Given the description of an element on the screen output the (x, y) to click on. 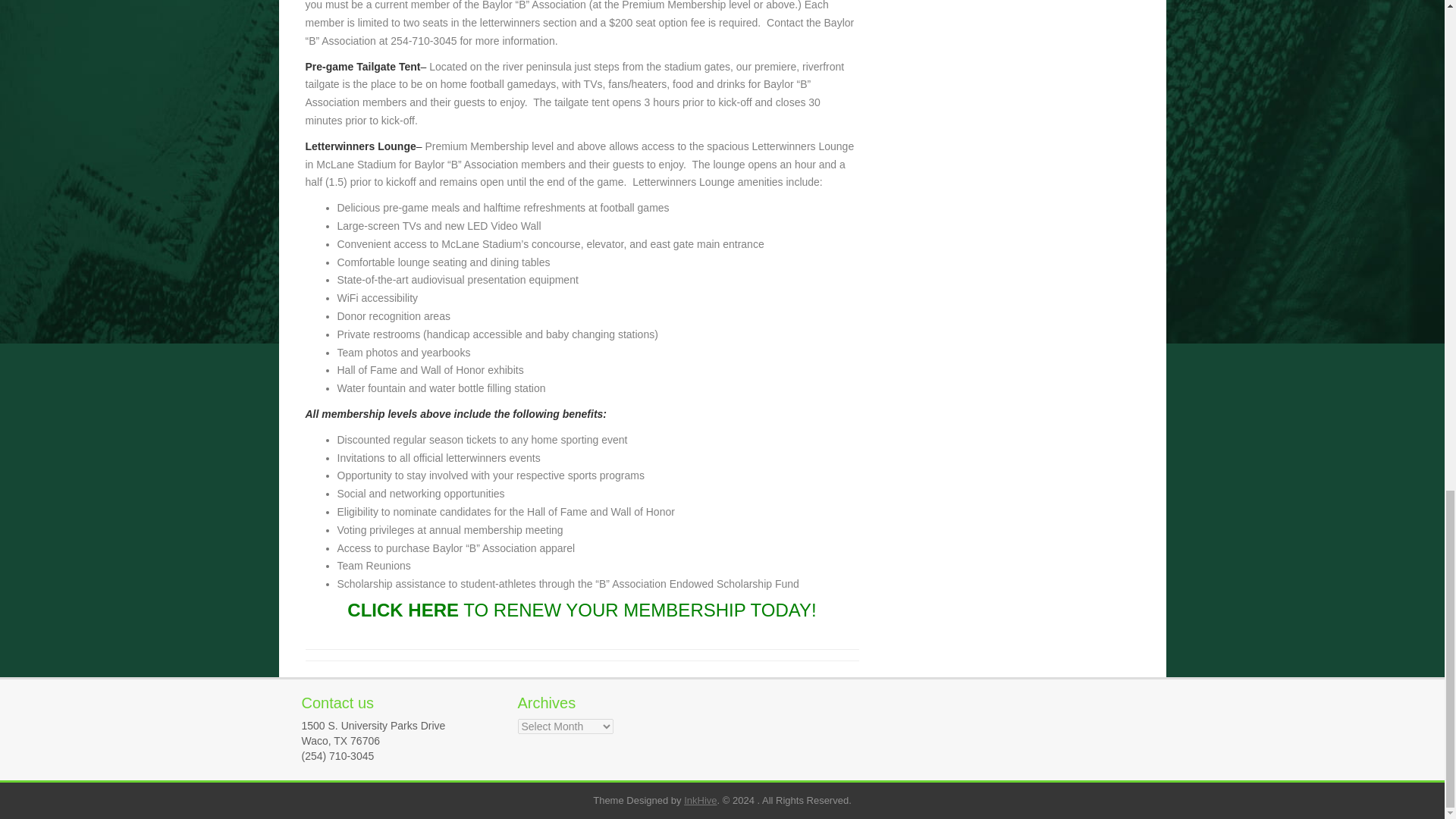
CLICK HERE (402, 609)
InkHive (700, 799)
